Given the description of an element on the screen output the (x, y) to click on. 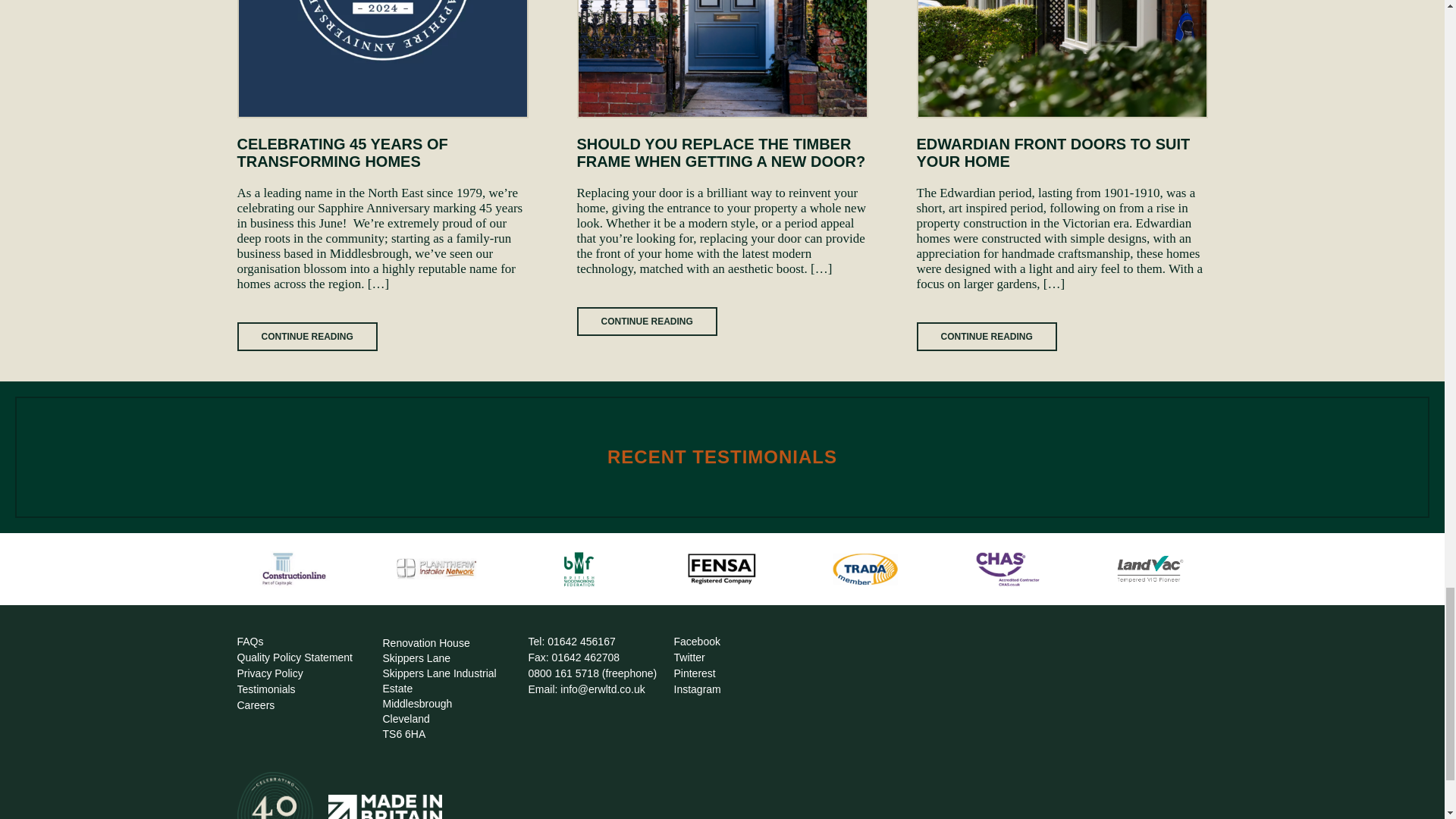
Careers (255, 705)
Privacy Policy (268, 673)
CONTINUE READING (986, 336)
CONTINUE READING (646, 321)
Quality Policy Statement (293, 657)
CONTINUE READING (306, 336)
Testimonials (265, 689)
FAQs (249, 641)
